Given the description of an element on the screen output the (x, y) to click on. 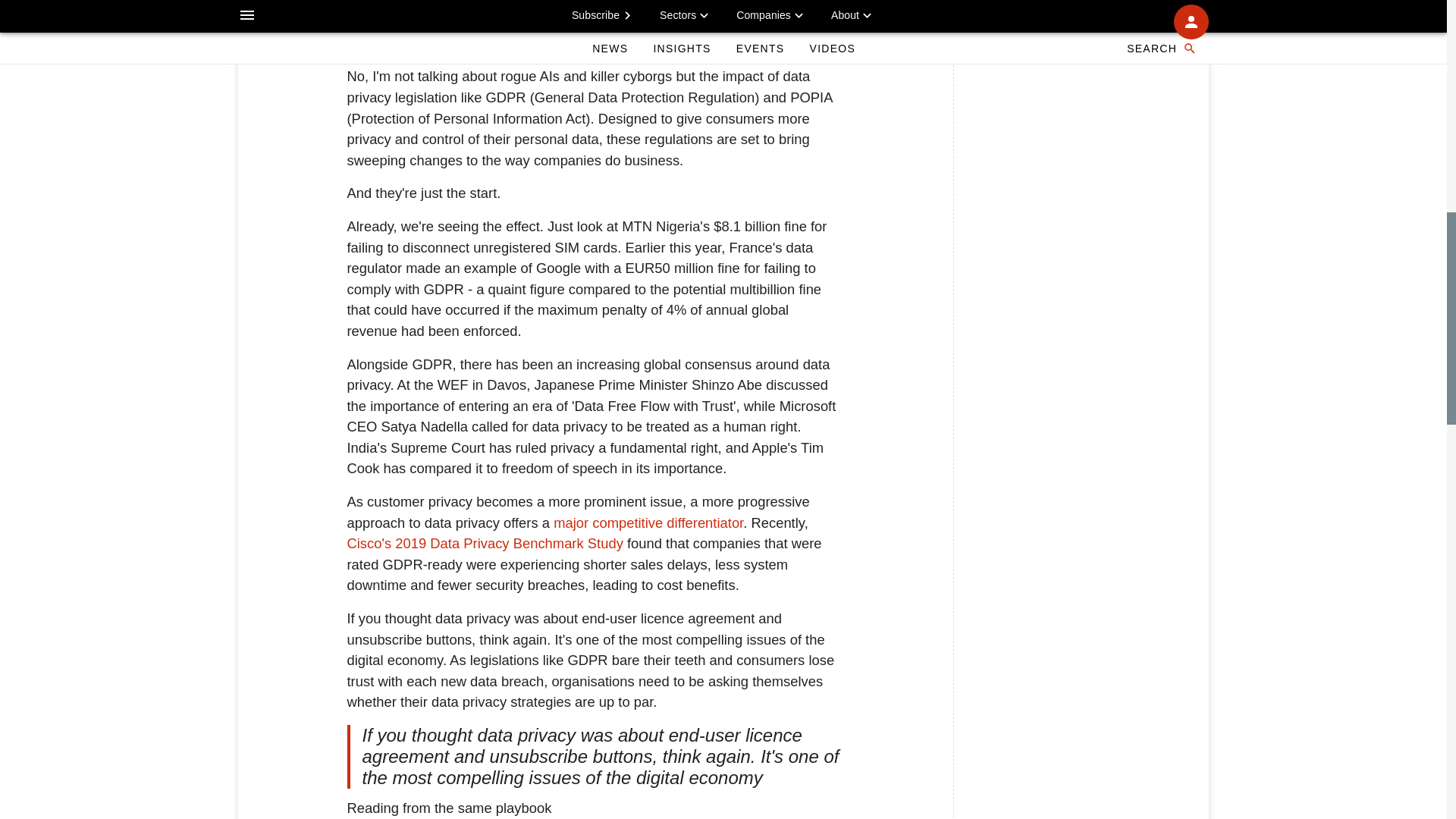
major competitive differentiator (647, 522)
Cisco's 2019 Data Privacy Benchmark Study (485, 543)
